Given the description of an element on the screen output the (x, y) to click on. 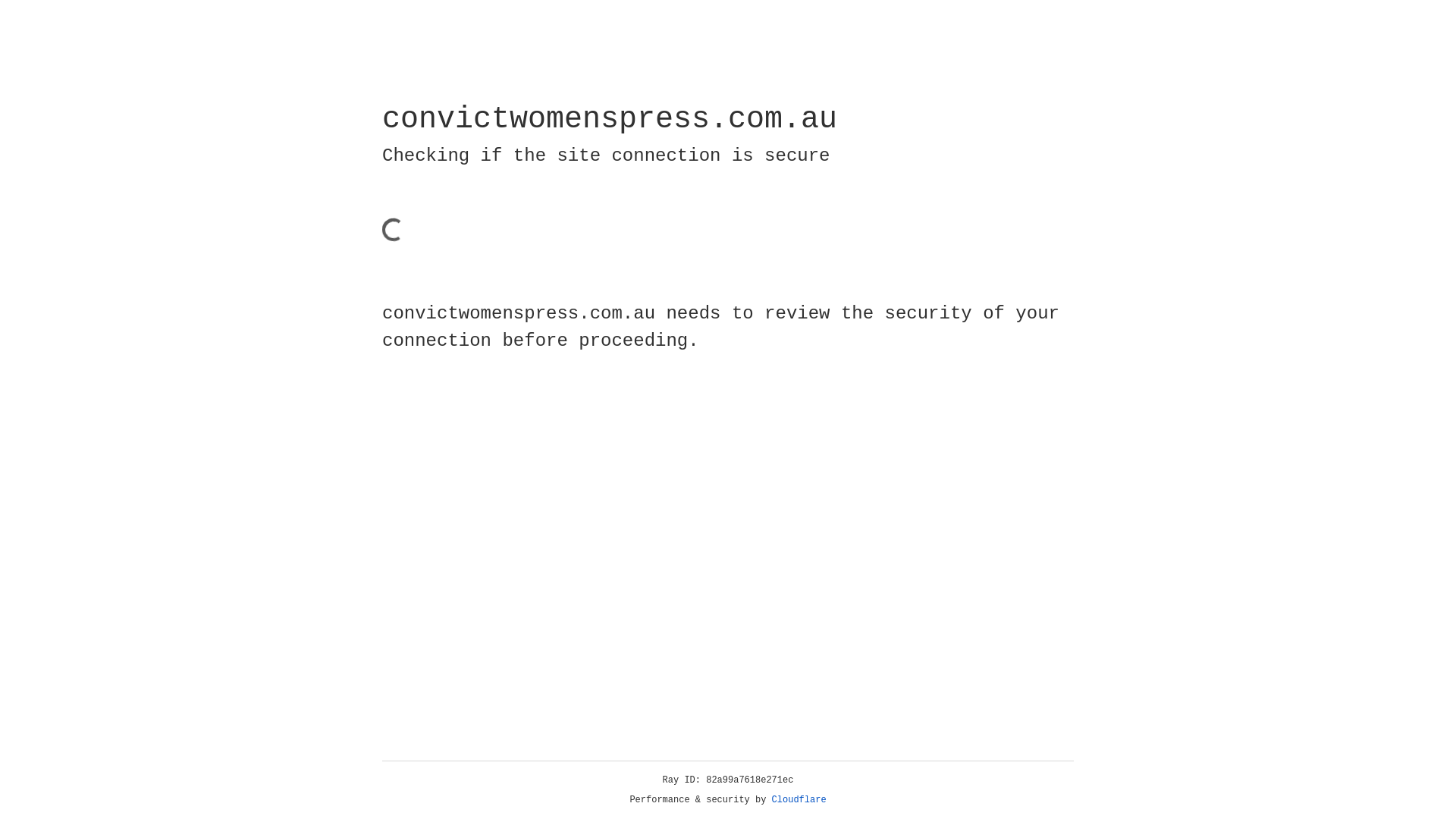
Cloudflare Element type: text (798, 799)
